Given the description of an element on the screen output the (x, y) to click on. 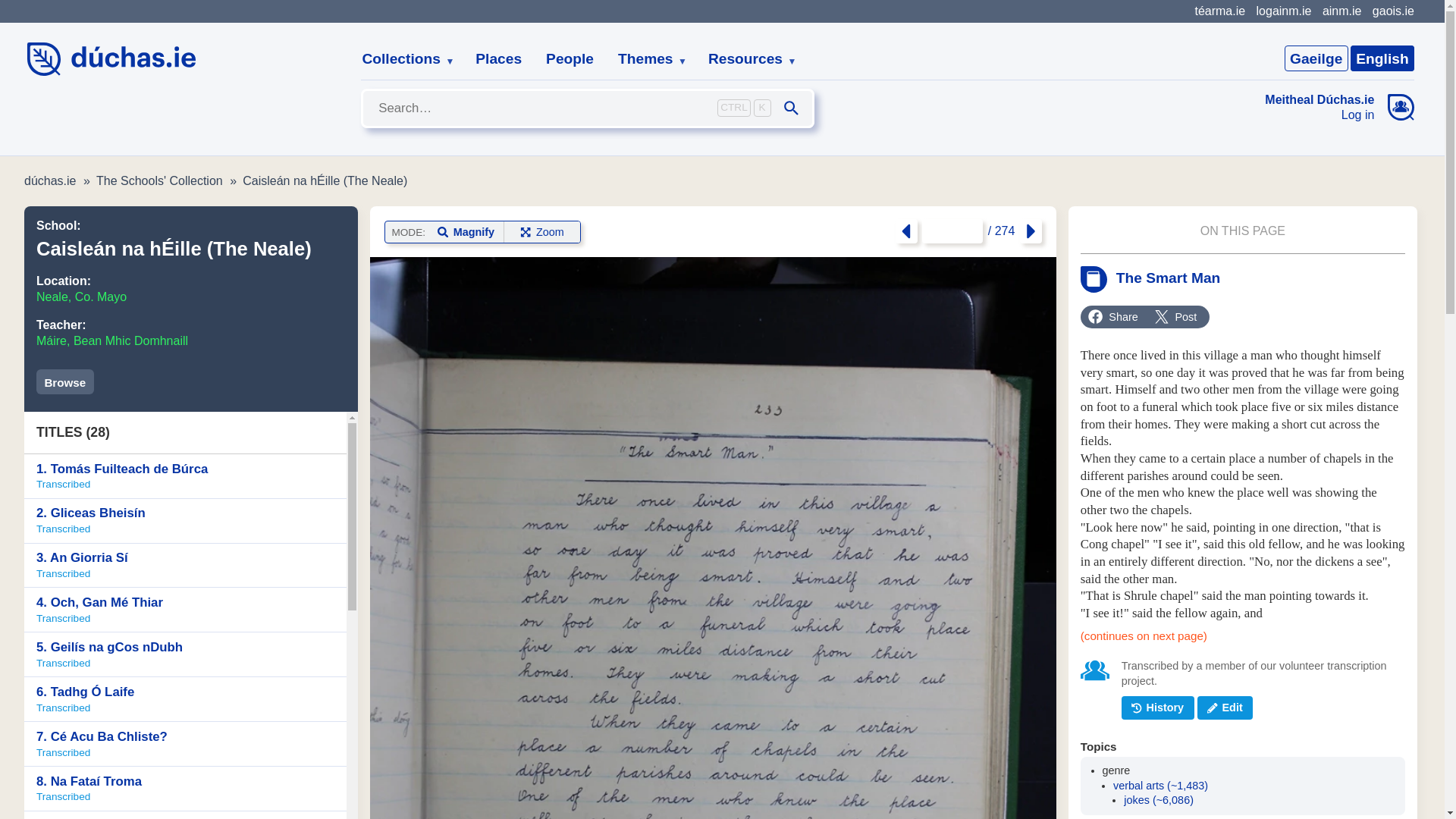
Themes (646, 59)
Resources (745, 59)
Collections (401, 59)
Places (498, 58)
People (569, 58)
Browse (65, 381)
English (1382, 58)
The Schools' Collection (159, 180)
Neale, Co. Mayo (81, 296)
ainm.ie (1341, 11)
gaois.ie (1393, 11)
logainm.ie (1283, 11)
Gaeilge (1316, 58)
Log in (1319, 114)
